Given the description of an element on the screen output the (x, y) to click on. 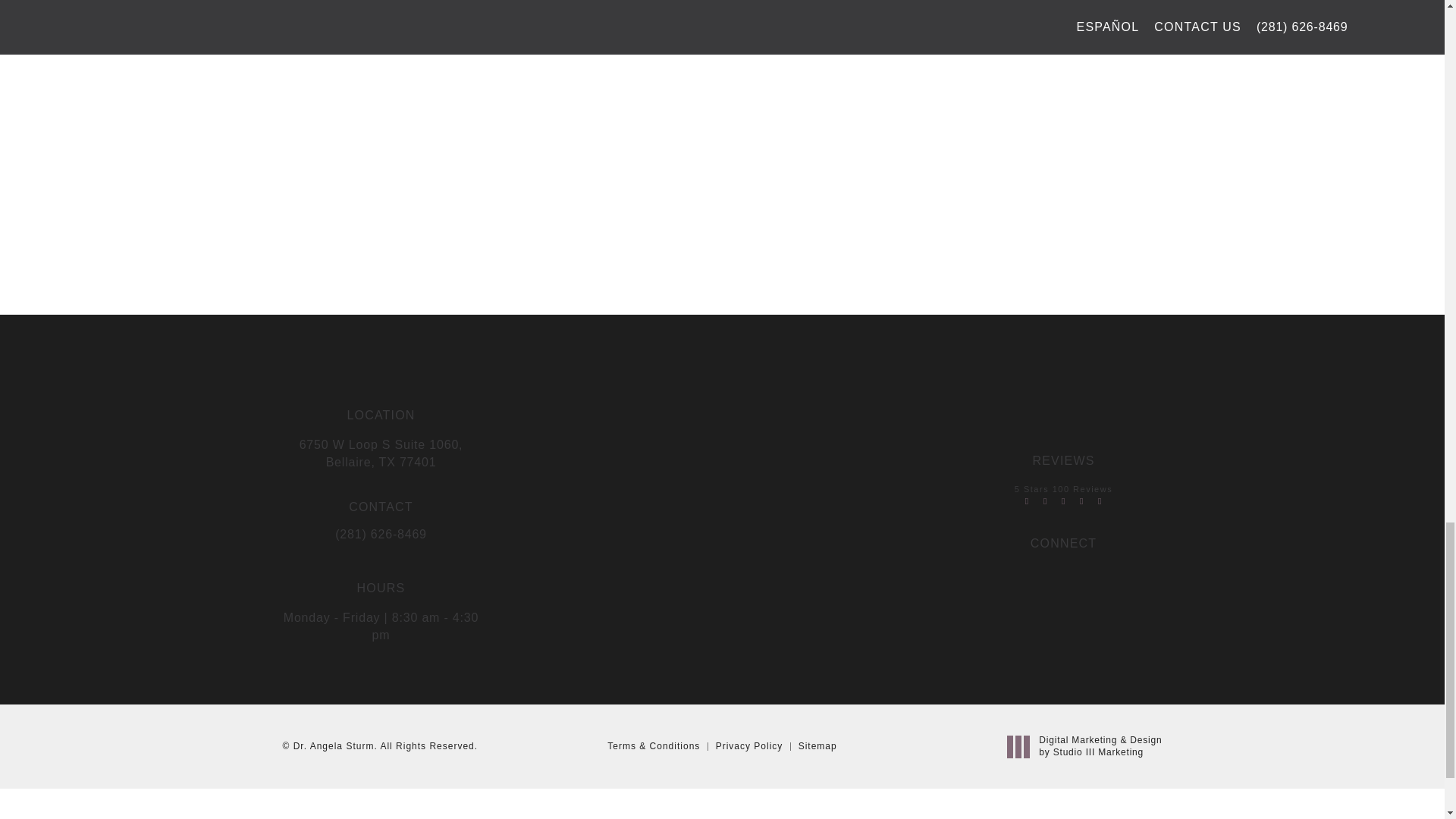
Dr. Angela Sturm on Facebook (1062, 575)
Dr. Angela Sturm on Instagram (1032, 575)
Dr. Angela Sturm on Youtube (1092, 575)
